Given the description of an element on the screen output the (x, y) to click on. 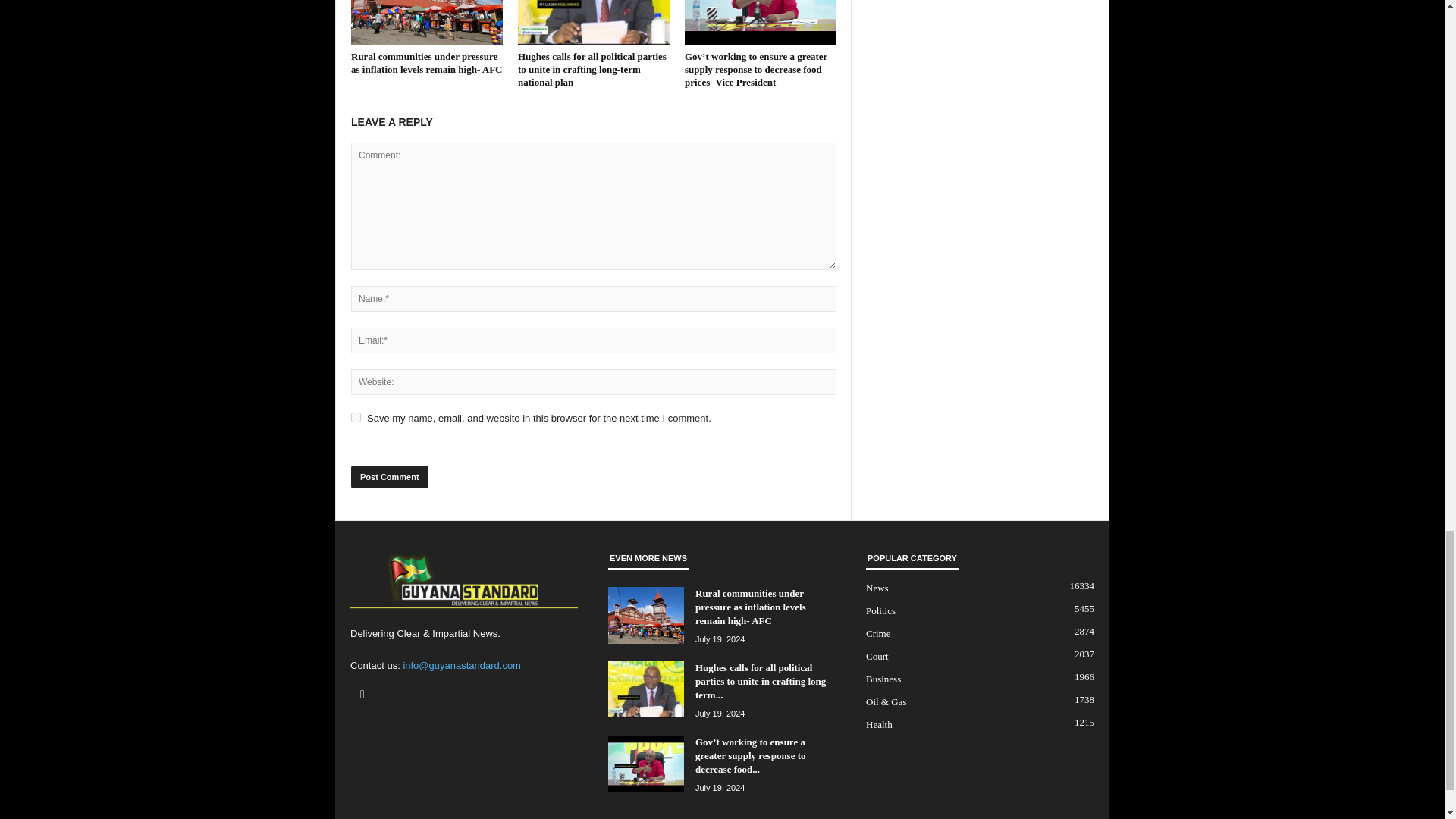
yes (355, 417)
Post Comment (389, 477)
